Given the description of an element on the screen output the (x, y) to click on. 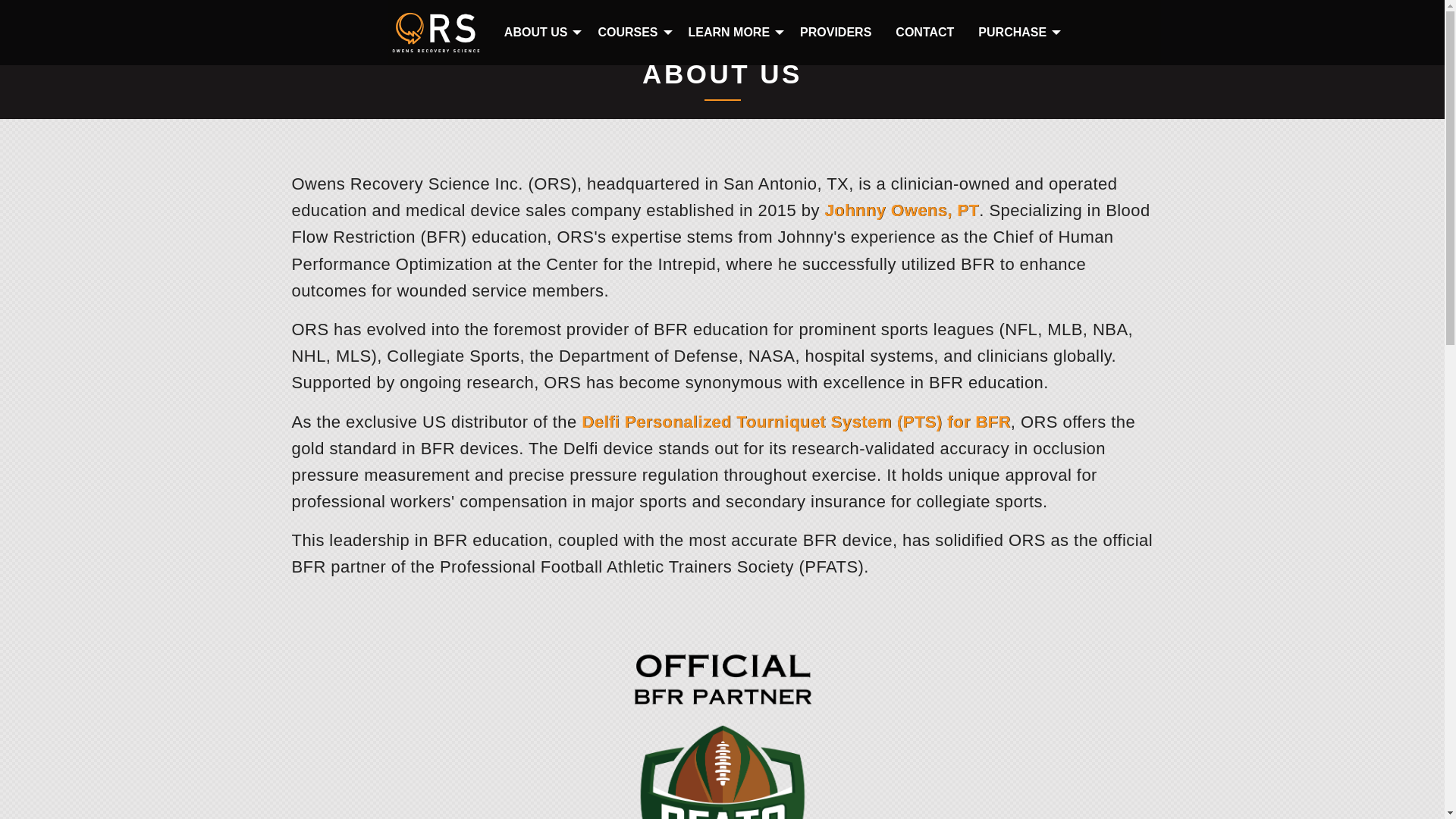
COURSES (721, 32)
ABOUT US (630, 32)
LEARN MORE (539, 32)
